Given the description of an element on the screen output the (x, y) to click on. 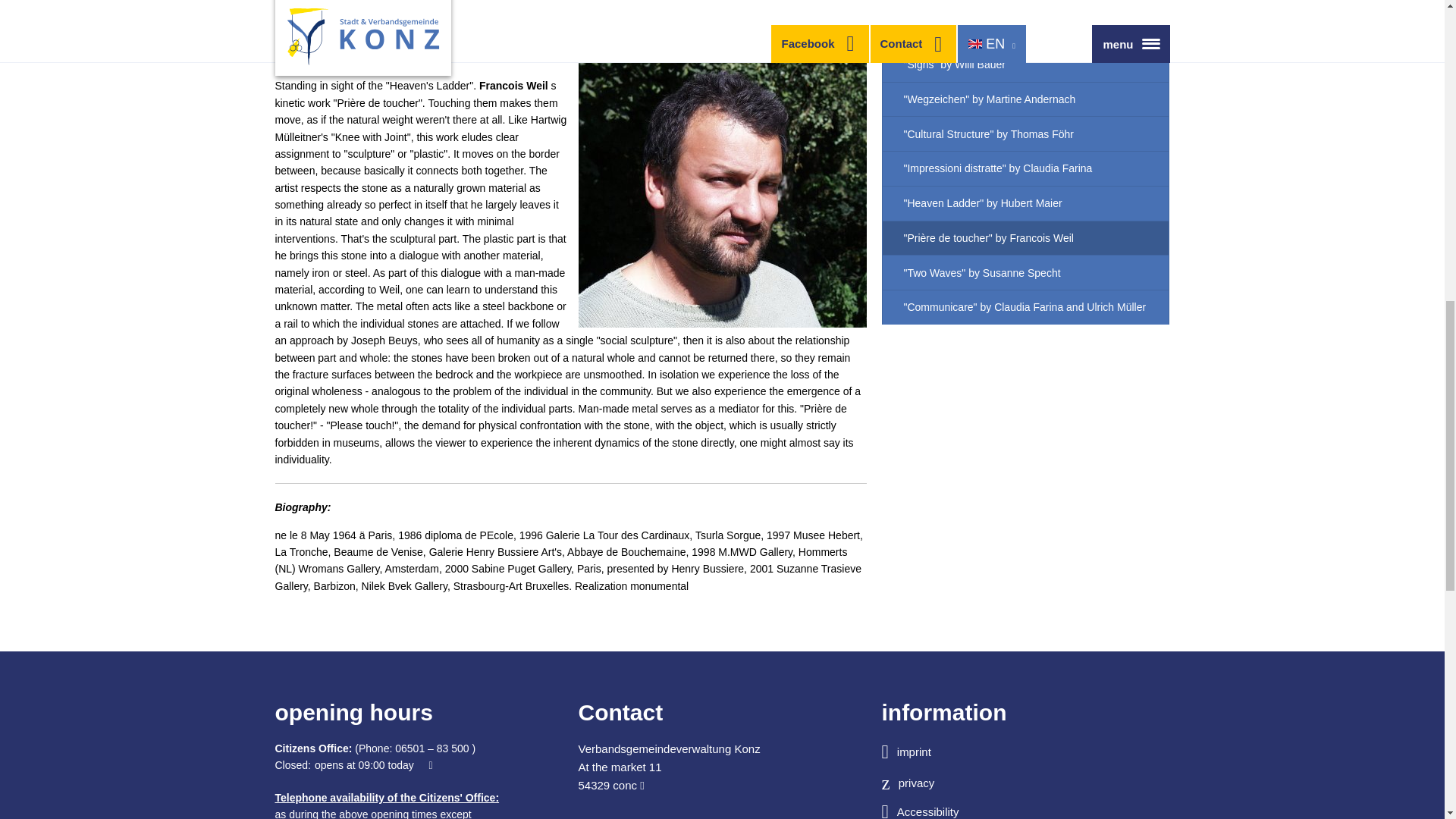
Jump to "Privacy Policy" webpage (1024, 782)
Jump to "Imprint" website (1024, 751)
Jump to Accessibility webpage (1024, 810)
